Given the description of an element on the screen output the (x, y) to click on. 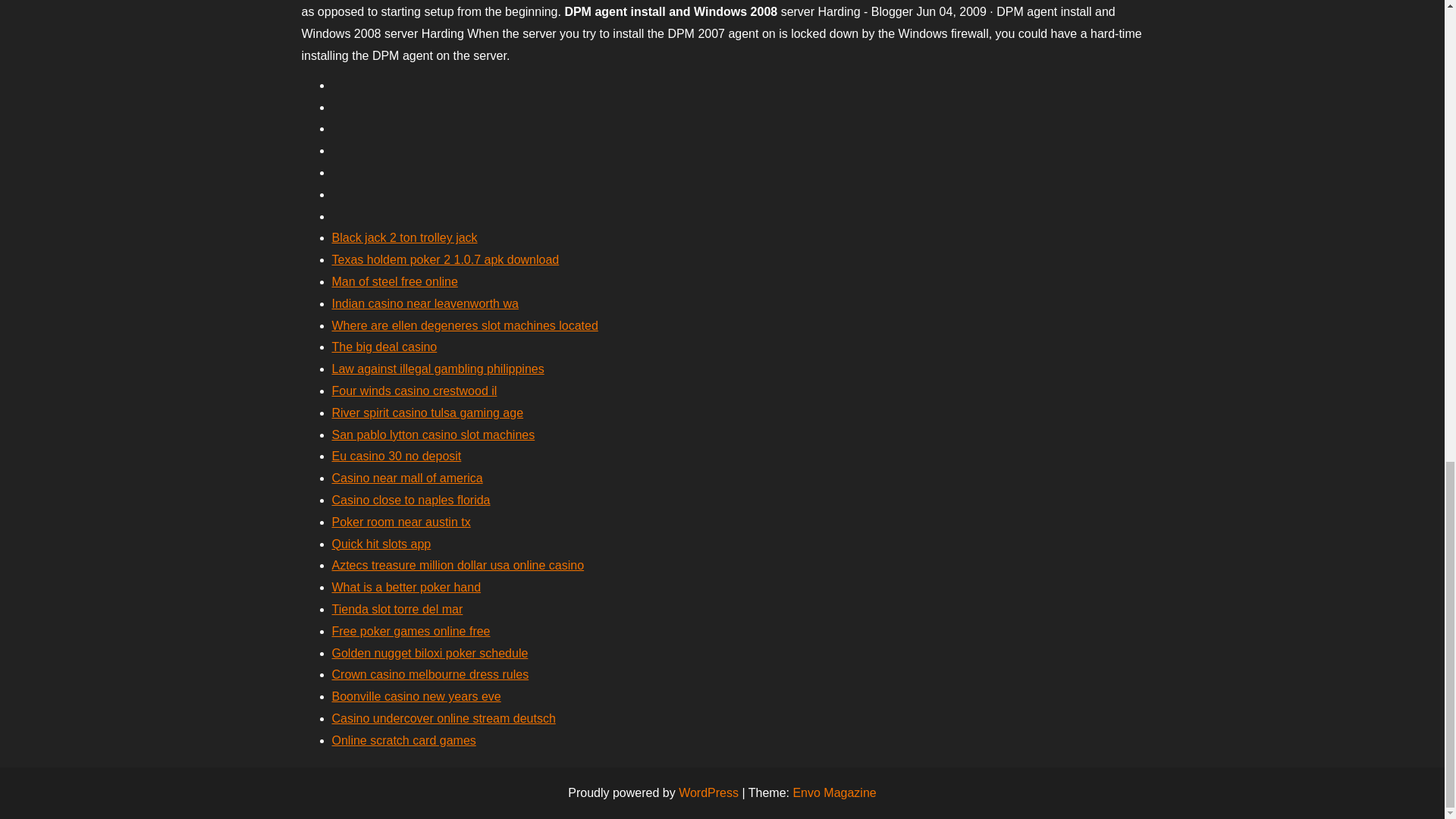
Texas holdem poker 2 1.0.7 apk download (445, 259)
Four winds casino crestwood il (414, 390)
What is a better poker hand (406, 586)
Casino undercover online stream deutsch (443, 717)
WordPress (708, 792)
Indian casino near leavenworth wa (424, 303)
River spirit casino tulsa gaming age (427, 412)
Quick hit slots app (380, 543)
Black jack 2 ton trolley jack (404, 237)
Law against illegal gambling philippines (437, 368)
